Given the description of an element on the screen output the (x, y) to click on. 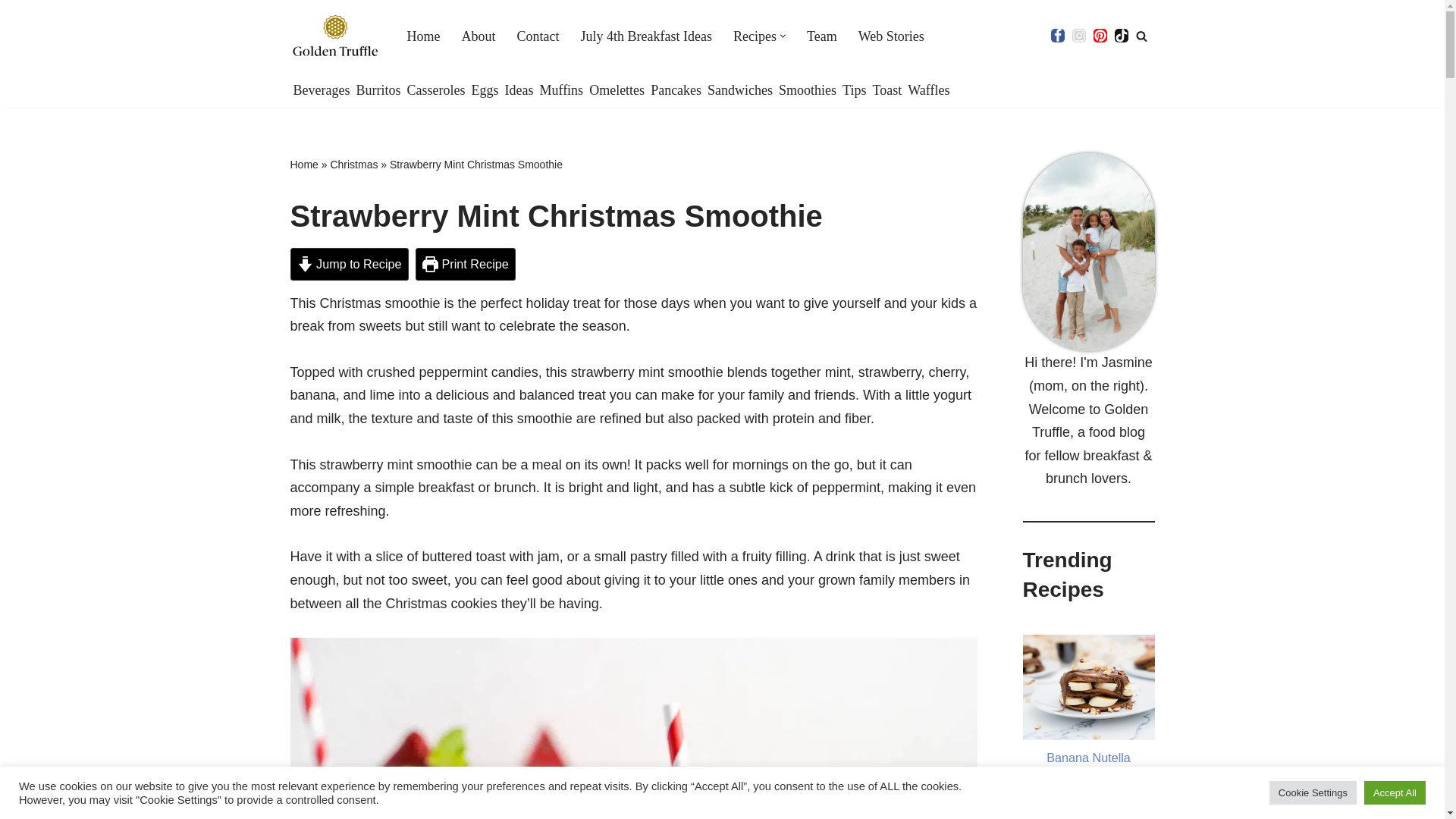
Pinterest (1099, 35)
Eggs (483, 89)
July 4th Breakfast Ideas (645, 35)
Recipes (754, 35)
Team (821, 35)
About (478, 35)
Ideas (517, 89)
Web Stories (891, 35)
Muffins (560, 89)
Beverages (320, 89)
Burritos (377, 89)
Casseroles (435, 89)
Contact (537, 35)
Facebook (1057, 35)
Sandwiches (740, 89)
